Given the description of an element on the screen output the (x, y) to click on. 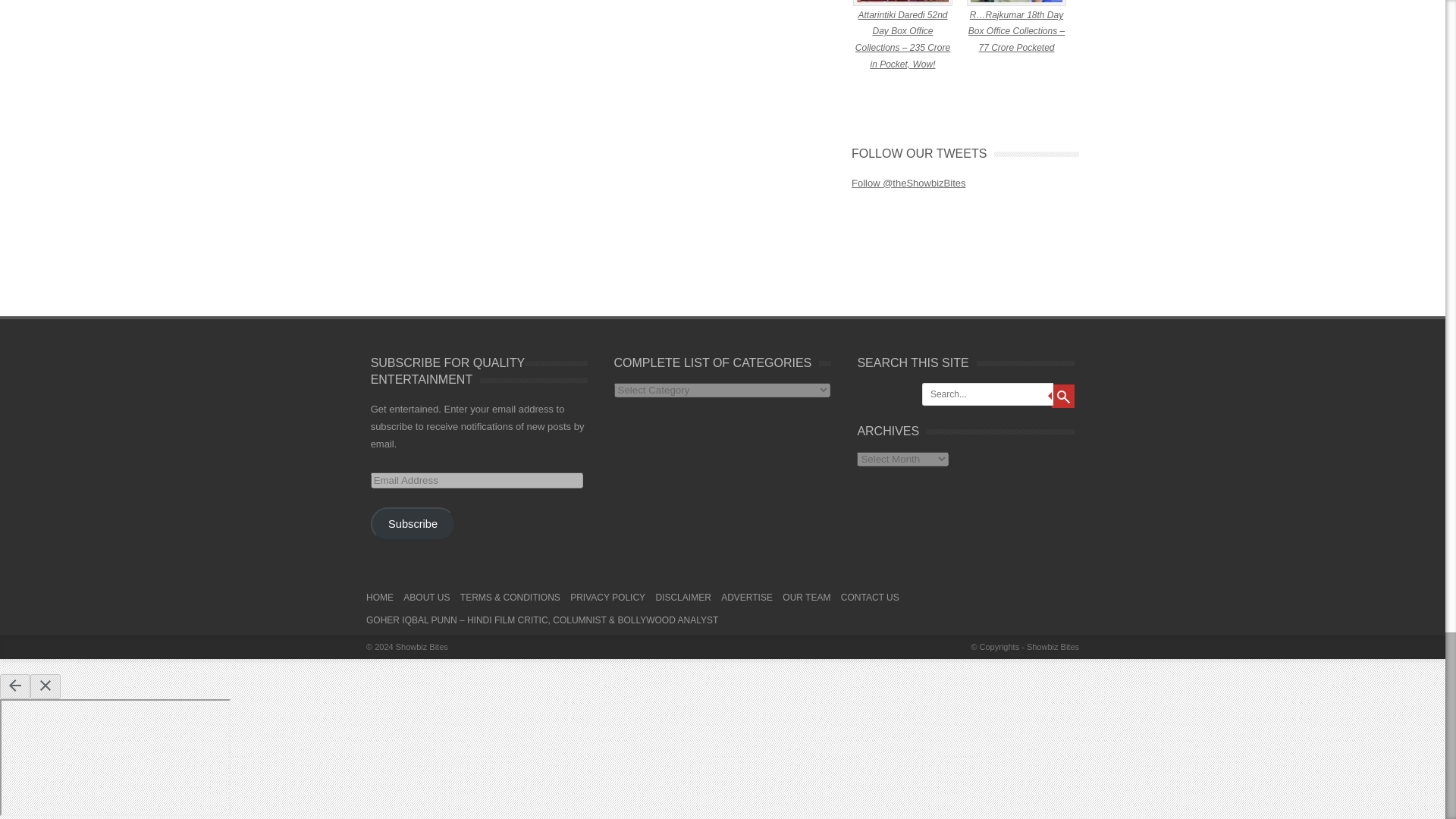
Search (1062, 395)
